Given the description of an element on the screen output the (x, y) to click on. 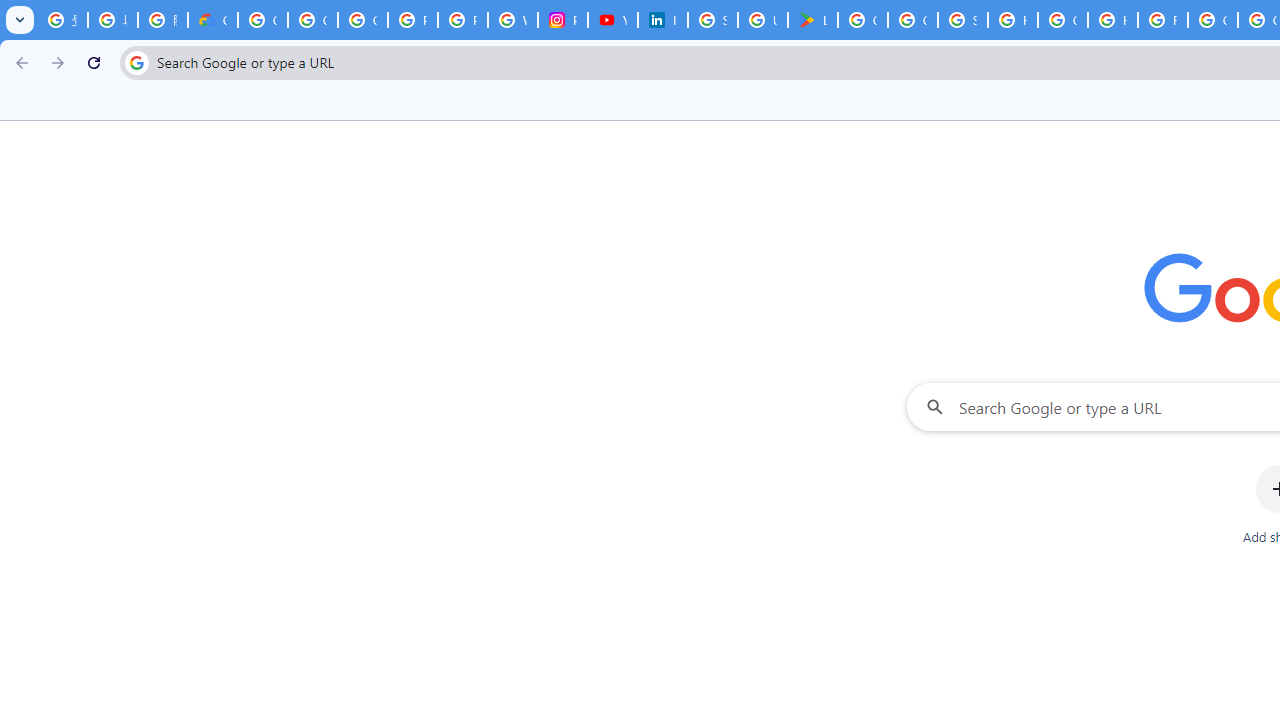
Search icon (136, 62)
Last Shelter: Survival - Apps on Google Play (813, 20)
Sign in - Google Accounts (712, 20)
Privacy Help Center - Policies Help (462, 20)
Identity verification via Persona | LinkedIn Help (662, 20)
Google Workspace - Specific Terms (913, 20)
How do I create a new Google Account? - Google Account Help (1112, 20)
